Given the description of an element on the screen output the (x, y) to click on. 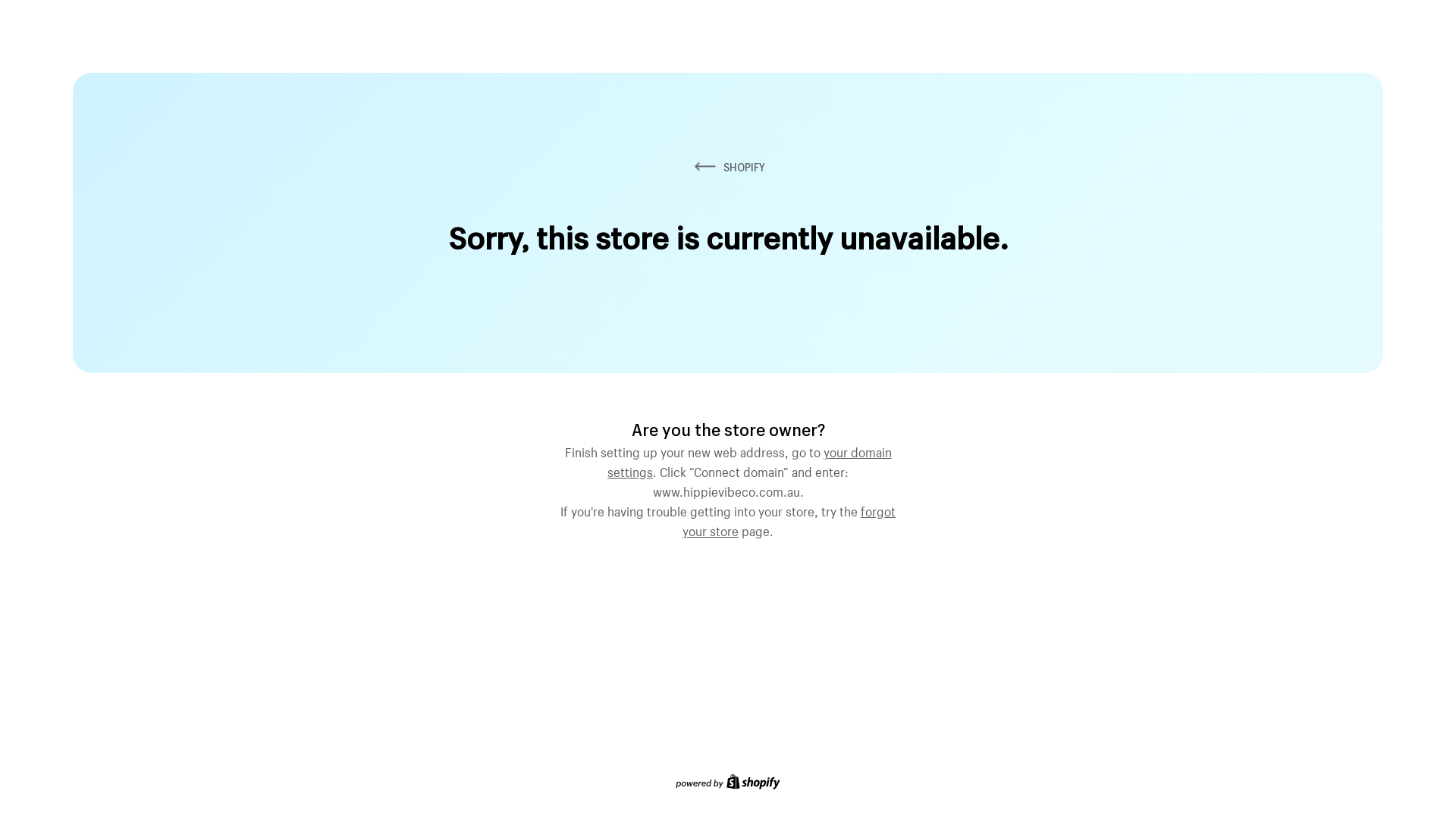
forgot your store Element type: text (788, 519)
your domain settings Element type: text (749, 460)
SHOPIFY Element type: text (727, 167)
